Given the description of an element on the screen output the (x, y) to click on. 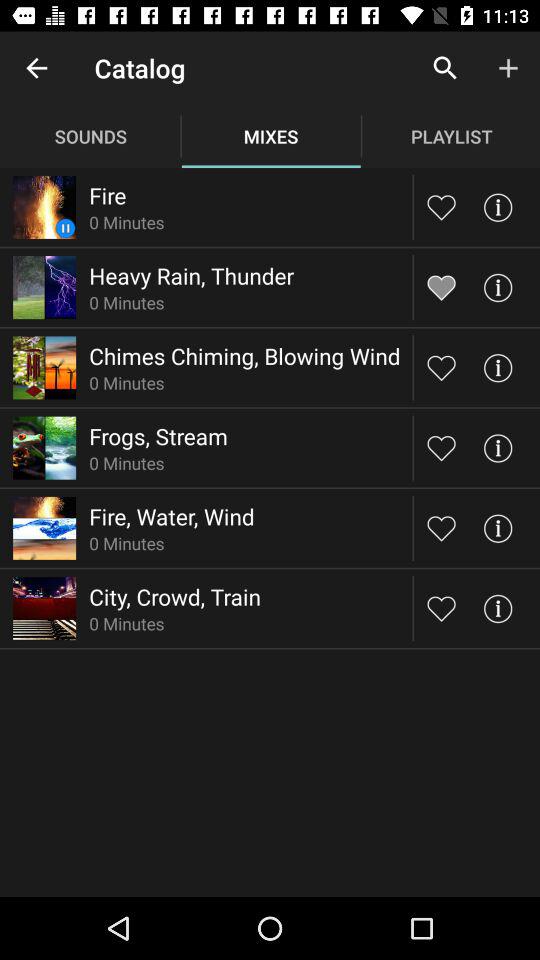
press the icon above playlist icon (444, 67)
